Given the description of an element on the screen output the (x, y) to click on. 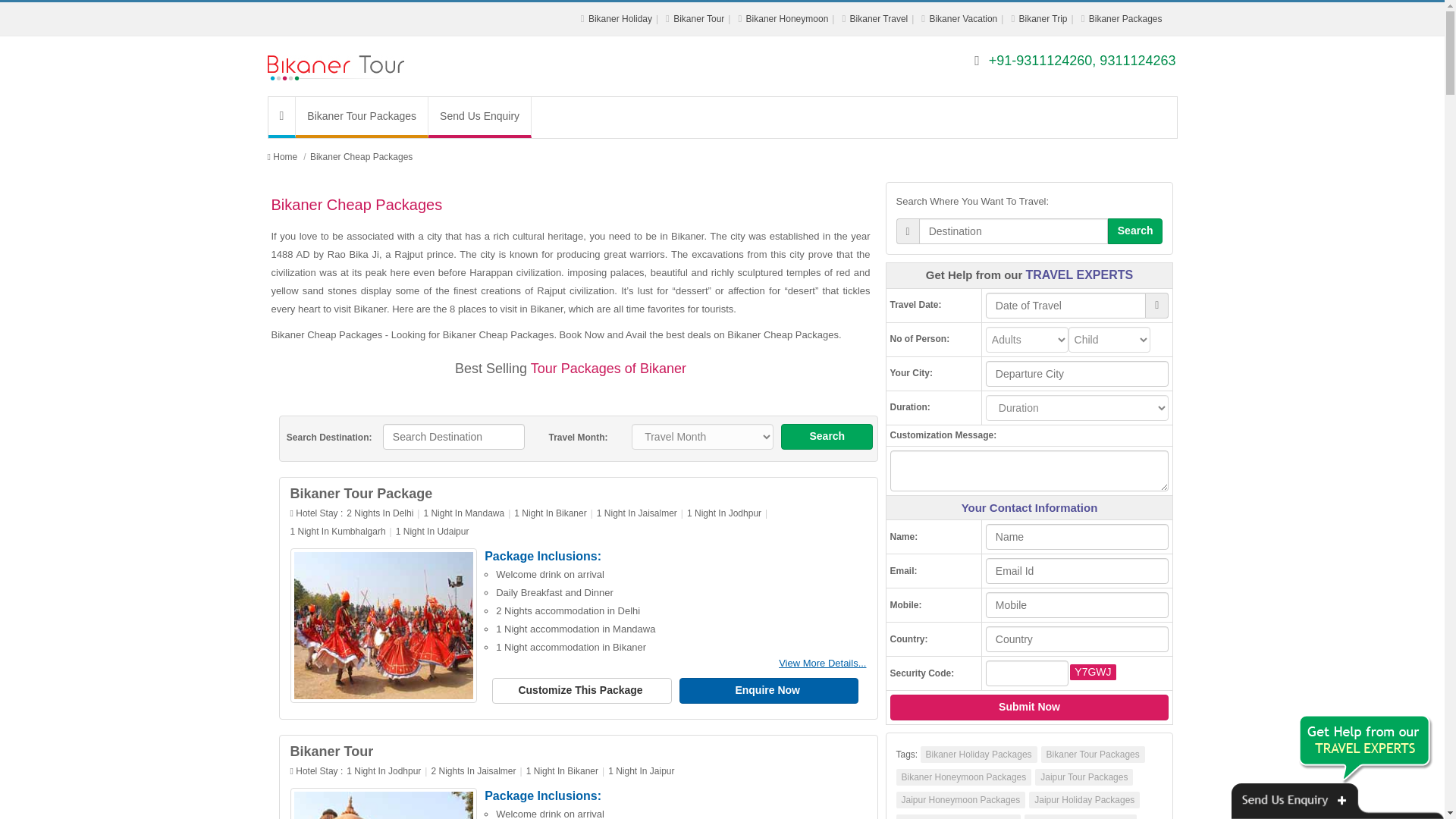
Bikaner Holiday Packages (620, 18)
Bikaner Cheap Packages (361, 156)
Home (285, 156)
Bikaner Tour Package (360, 493)
Bikaner Tour (330, 751)
Bikaner Trip (1043, 18)
Bikaner Tour (697, 18)
Search (826, 436)
Bikaner Packages (1125, 18)
Bikaner Tour Packages (285, 156)
Bikaner Travel (879, 18)
Bikaner Cheap Packages (361, 156)
Bikaner Tour Package (383, 625)
Bikaner Trip Packages (1043, 18)
Bikaner Travel Packages (879, 18)
